Given the description of an element on the screen output the (x, y) to click on. 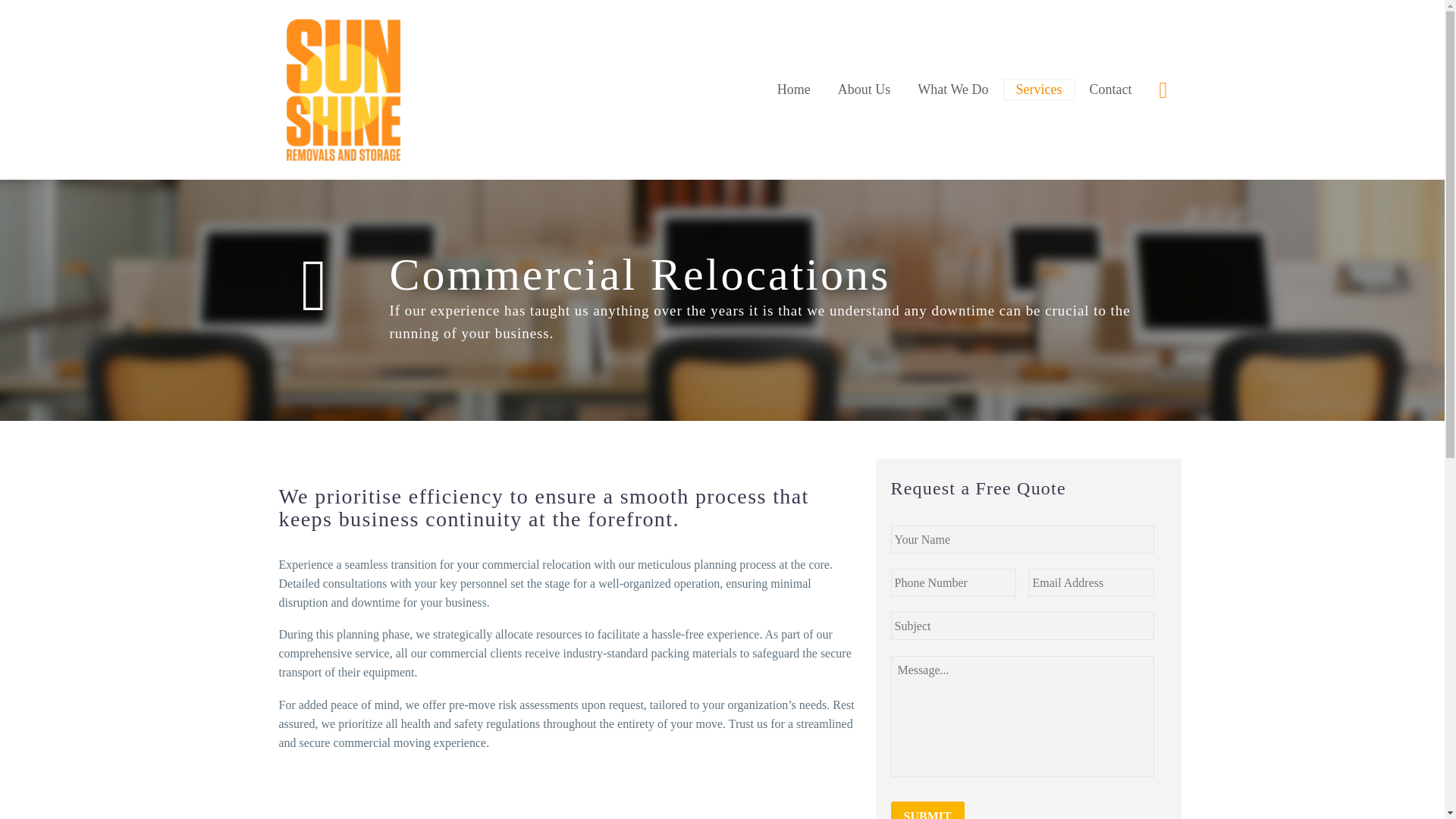
What We Do (951, 89)
Contact (1110, 89)
Submit (926, 810)
Home (793, 89)
Submit (926, 810)
About Us (864, 89)
Services (1039, 89)
